Given the description of an element on the screen output the (x, y) to click on. 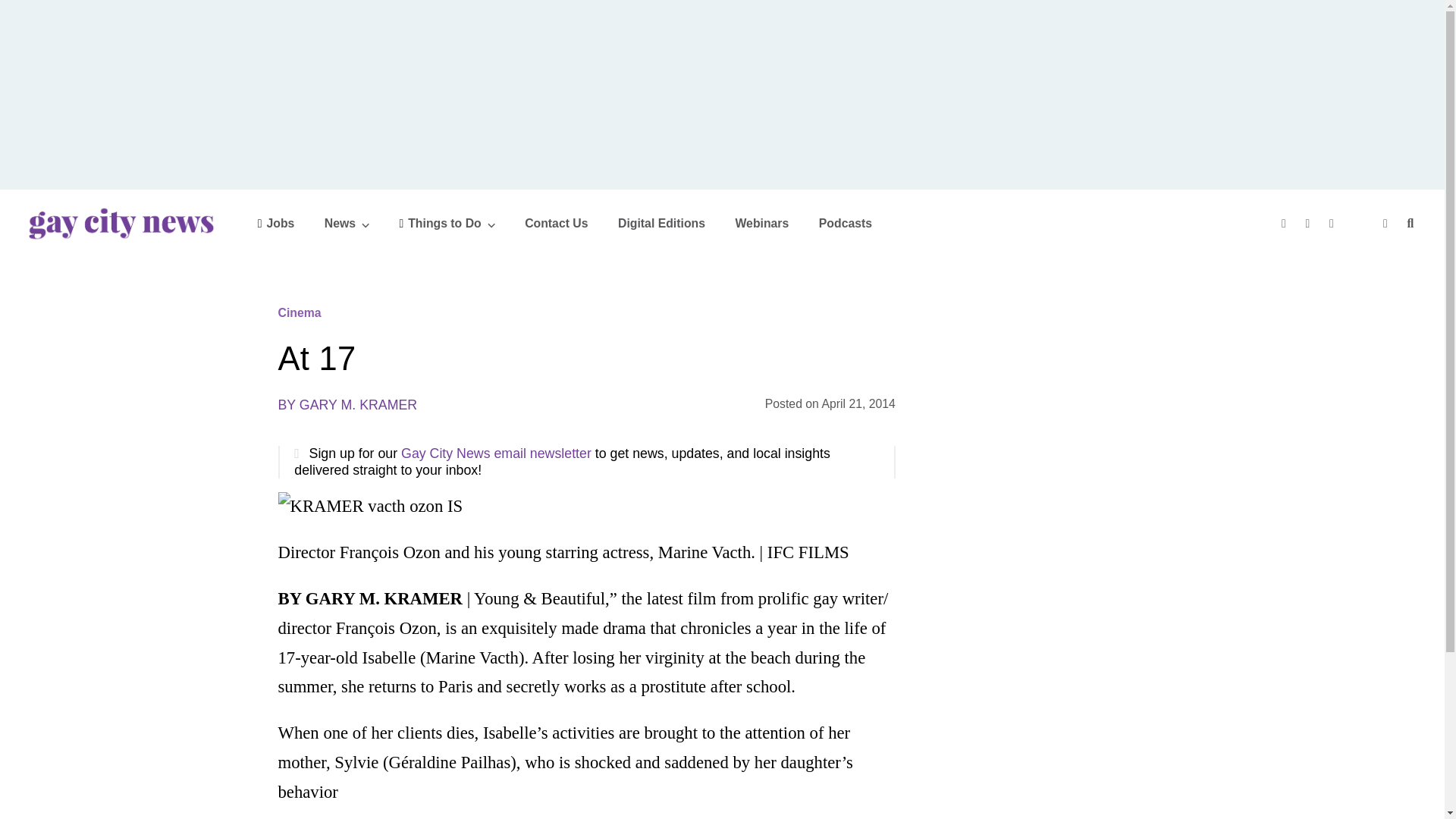
Webinars (762, 223)
Things to Do (446, 223)
Contact Us (556, 223)
Digital Editions (660, 223)
Podcasts (845, 223)
News (346, 223)
Jobs (276, 223)
